Given the description of an element on the screen output the (x, y) to click on. 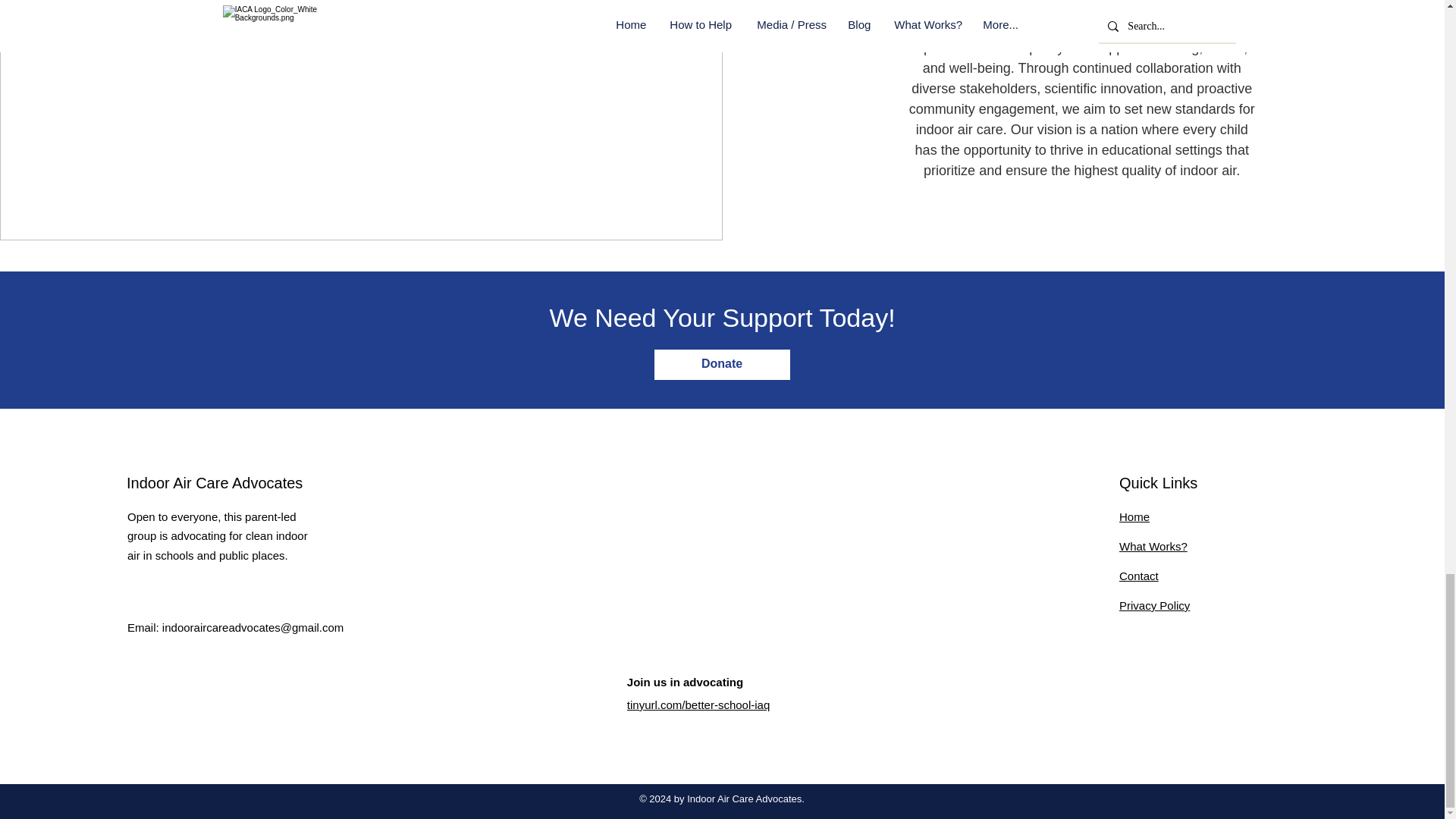
Home (1134, 516)
Privacy Policy (1154, 604)
What Works? (1153, 545)
Contact (1138, 575)
